Given the description of an element on the screen output the (x, y) to click on. 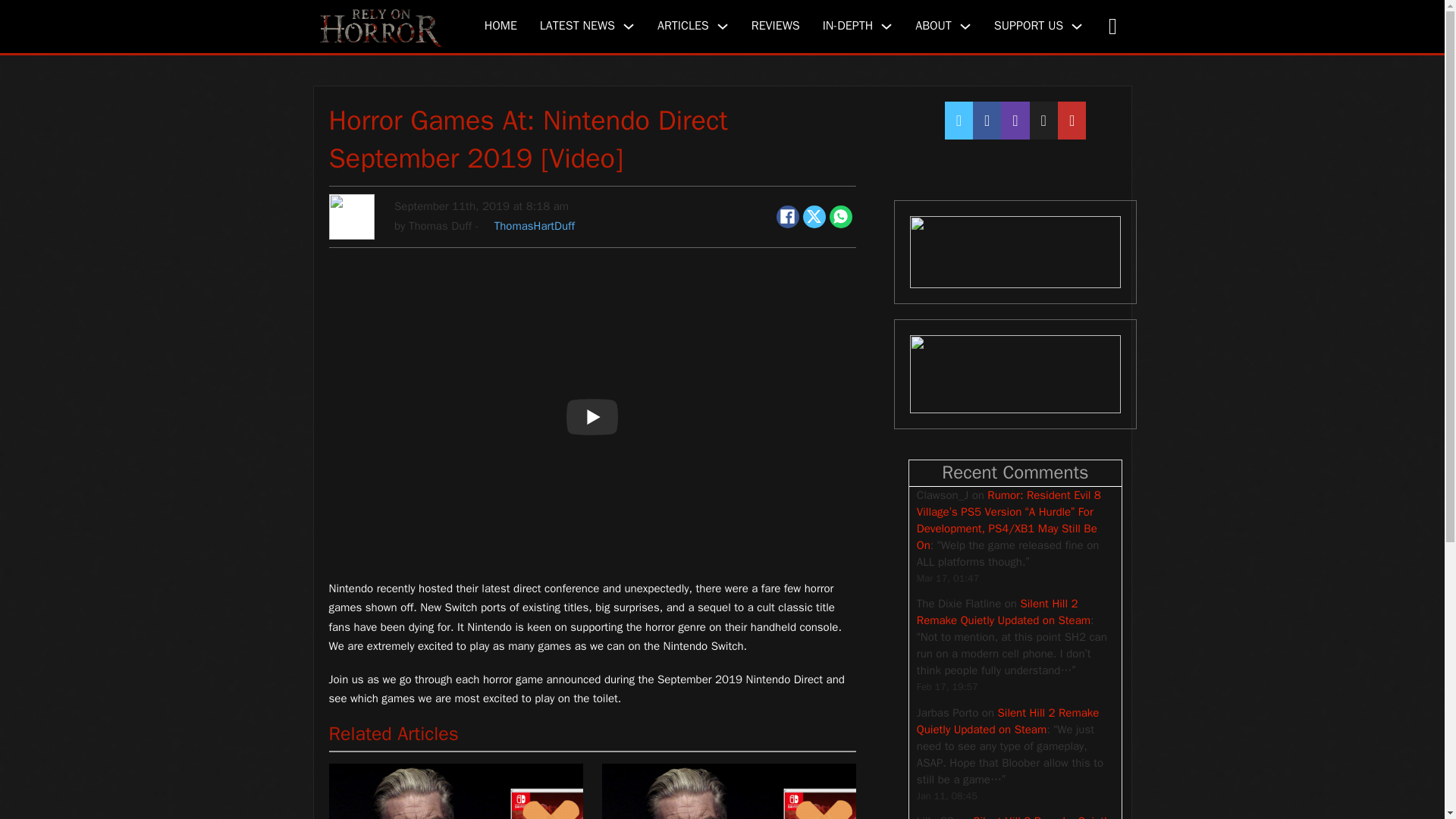
HOME (500, 25)
LATEST NEWS (577, 25)
ARTICLES (683, 25)
YouTube (1015, 374)
ABOUT (933, 25)
REVIEWS (775, 25)
Discord (1015, 251)
Posts by Thomas Duff (440, 225)
IN-DEPTH (847, 25)
